Given the description of an element on the screen output the (x, y) to click on. 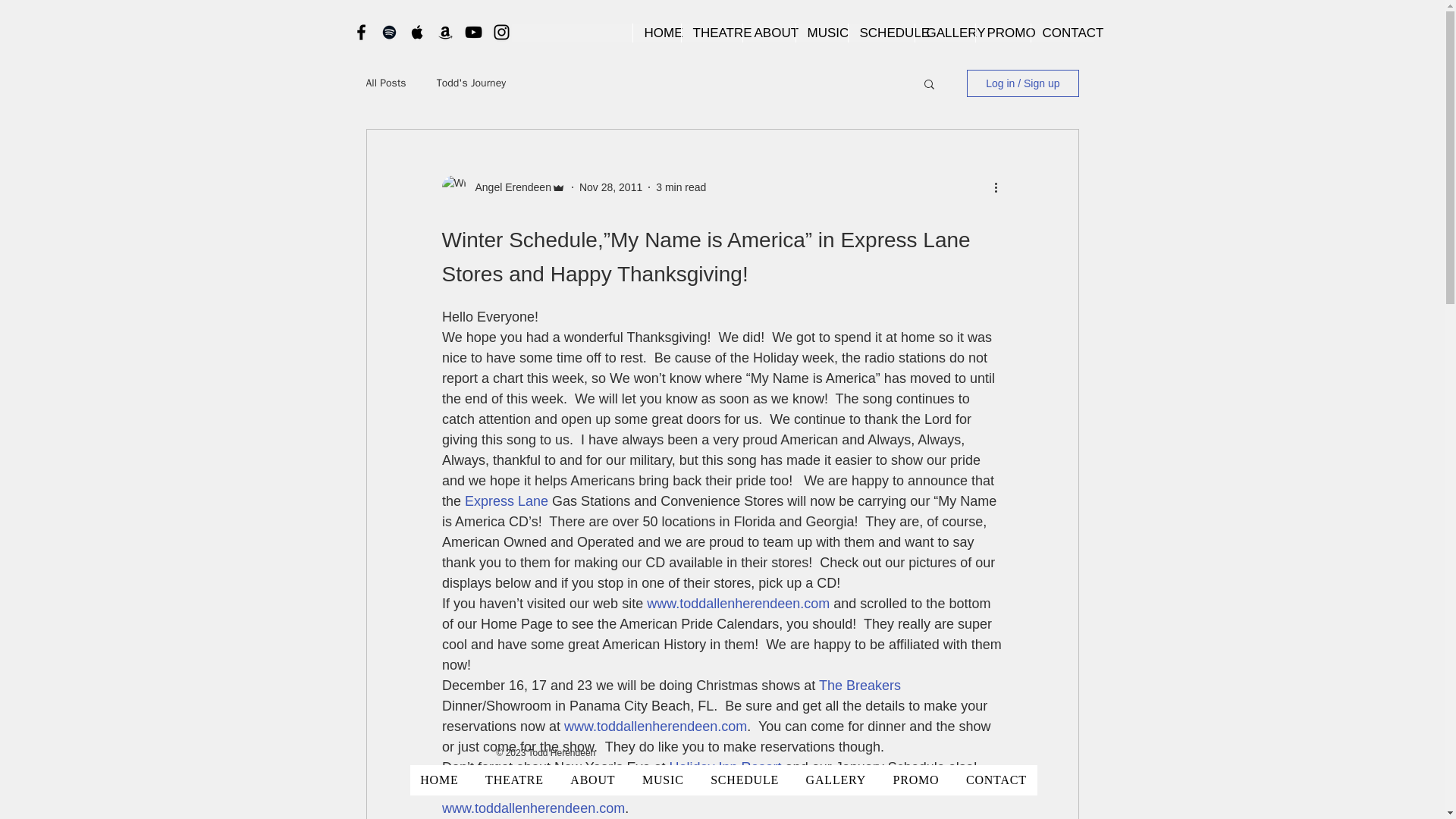
www.toddallenherendeen.com (655, 726)
www.toddallenherendeen.com (532, 807)
www.toddallenherendeen.com (737, 603)
Todd's Journey (470, 83)
PROMO (1002, 32)
ABOUT (767, 32)
3 min read (681, 186)
Express Lane (506, 500)
Nov 28, 2011 (610, 186)
HOME (656, 32)
THEATRE (711, 32)
CONTACT (1061, 32)
All Posts (385, 83)
Angel Erendeen (507, 186)
MUSIC (820, 32)
